Given the description of an element on the screen output the (x, y) to click on. 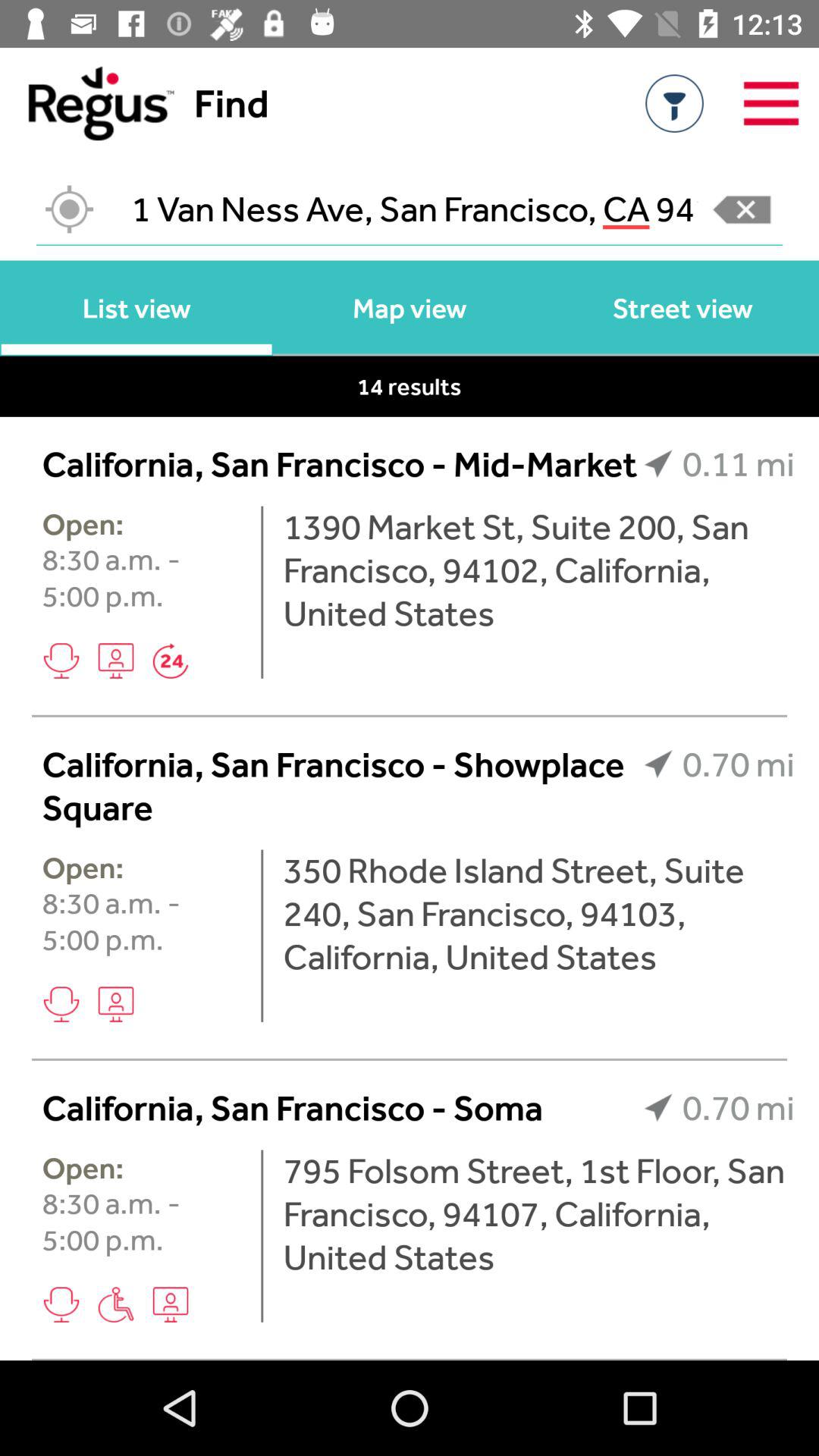
flip until 14 results item (409, 385)
